Given the description of an element on the screen output the (x, y) to click on. 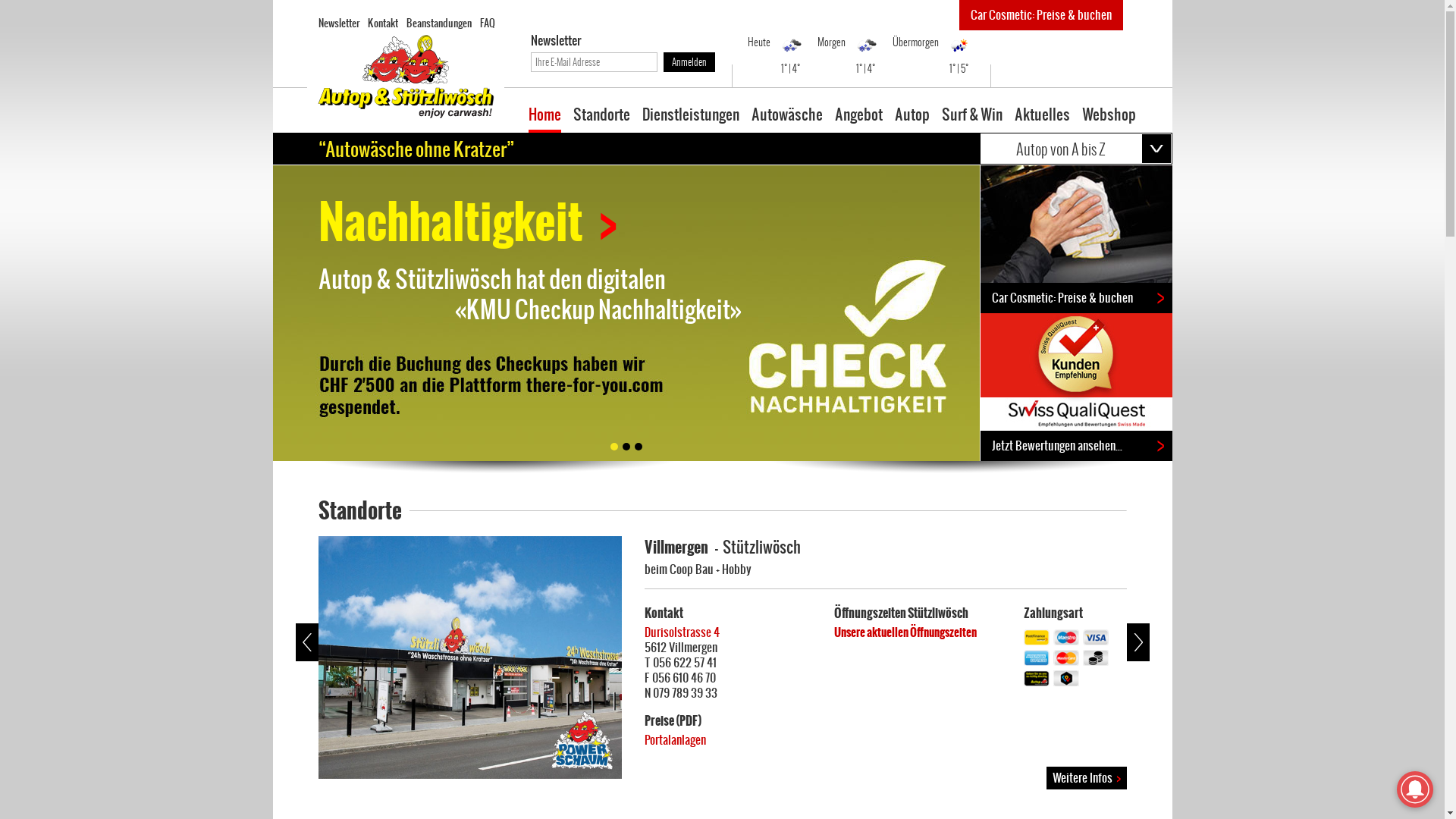
Anmelden Element type: text (688, 62)
Durisolstrasse 4 Element type: text (681, 631)
Beanstandungen Element type: text (438, 22)
Home Element type: text (543, 119)
Online Shop> Element type: text (441, 222)
Portalanlagen Element type: text (675, 739)
Angebot Element type: text (857, 119)
Car Cosmetic: Preise & buchen
> Element type: text (1075, 297)
Kontakt Element type: text (382, 22)
Surf & Win Element type: text (971, 119)
Webshop Element type: text (1108, 119)
Standorte Element type: text (601, 119)
Dienstleistungen Element type: text (689, 119)
FAQ Element type: text (486, 22)
Jetzt Bewertungen ansehen...
> Element type: text (1075, 445)
Weitere Infos> Element type: text (1086, 777)
Car Cosmetic: Preise & buchen Element type: text (1040, 15)
Aktuelles Element type: text (1042, 119)
Newsletter Element type: text (338, 22)
Autop Element type: text (911, 119)
